Given the description of an element on the screen output the (x, y) to click on. 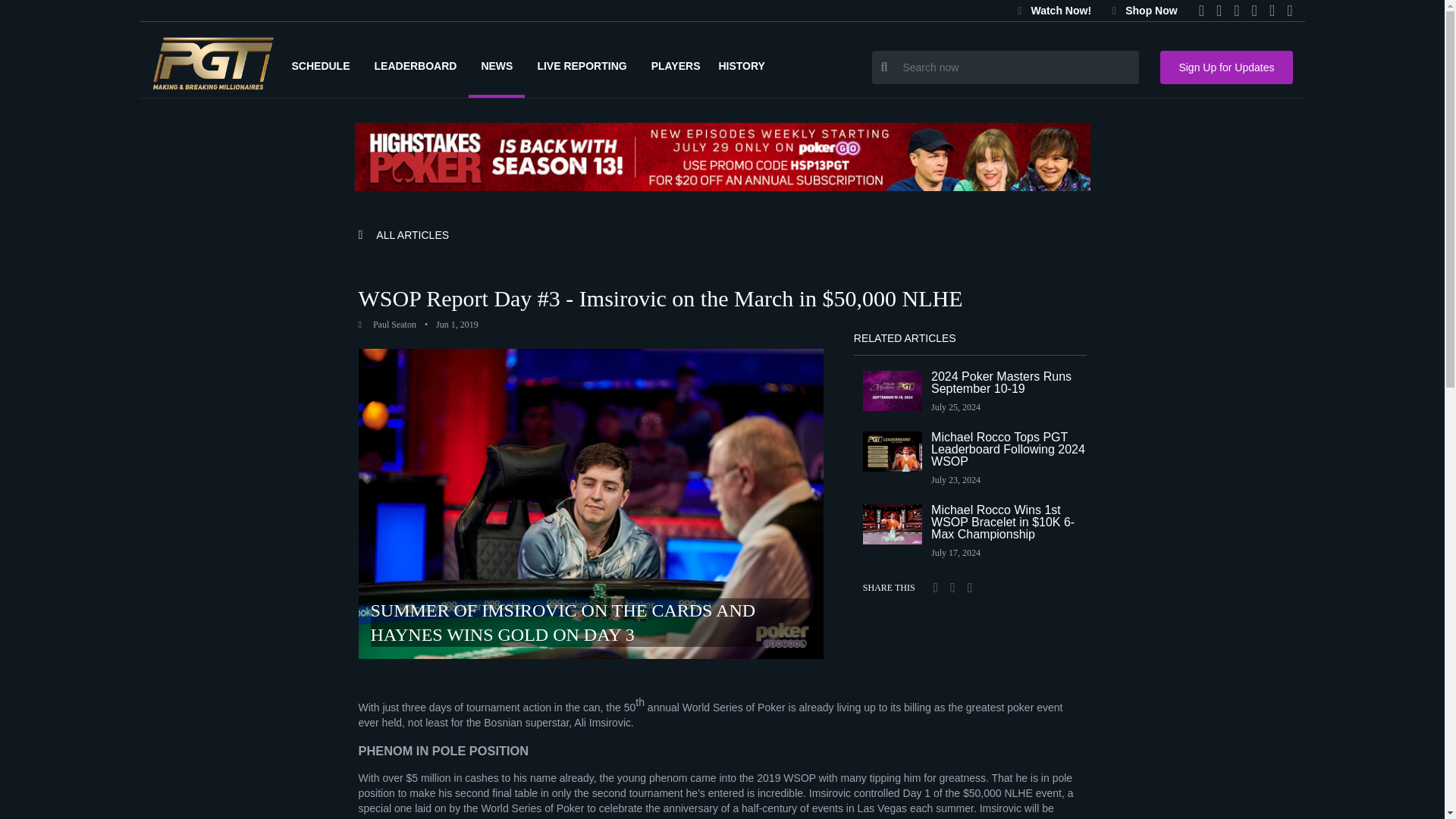
Sign Up for Updates (1226, 67)
PLAYERS (675, 65)
HISTORY (746, 65)
LEADERBOARD (415, 65)
SCHEDULE (320, 65)
Shop Now (1144, 10)
LIVE REPORTING (581, 65)
Watch Now! (1053, 10)
NEWS (496, 65)
